Given the description of an element on the screen output the (x, y) to click on. 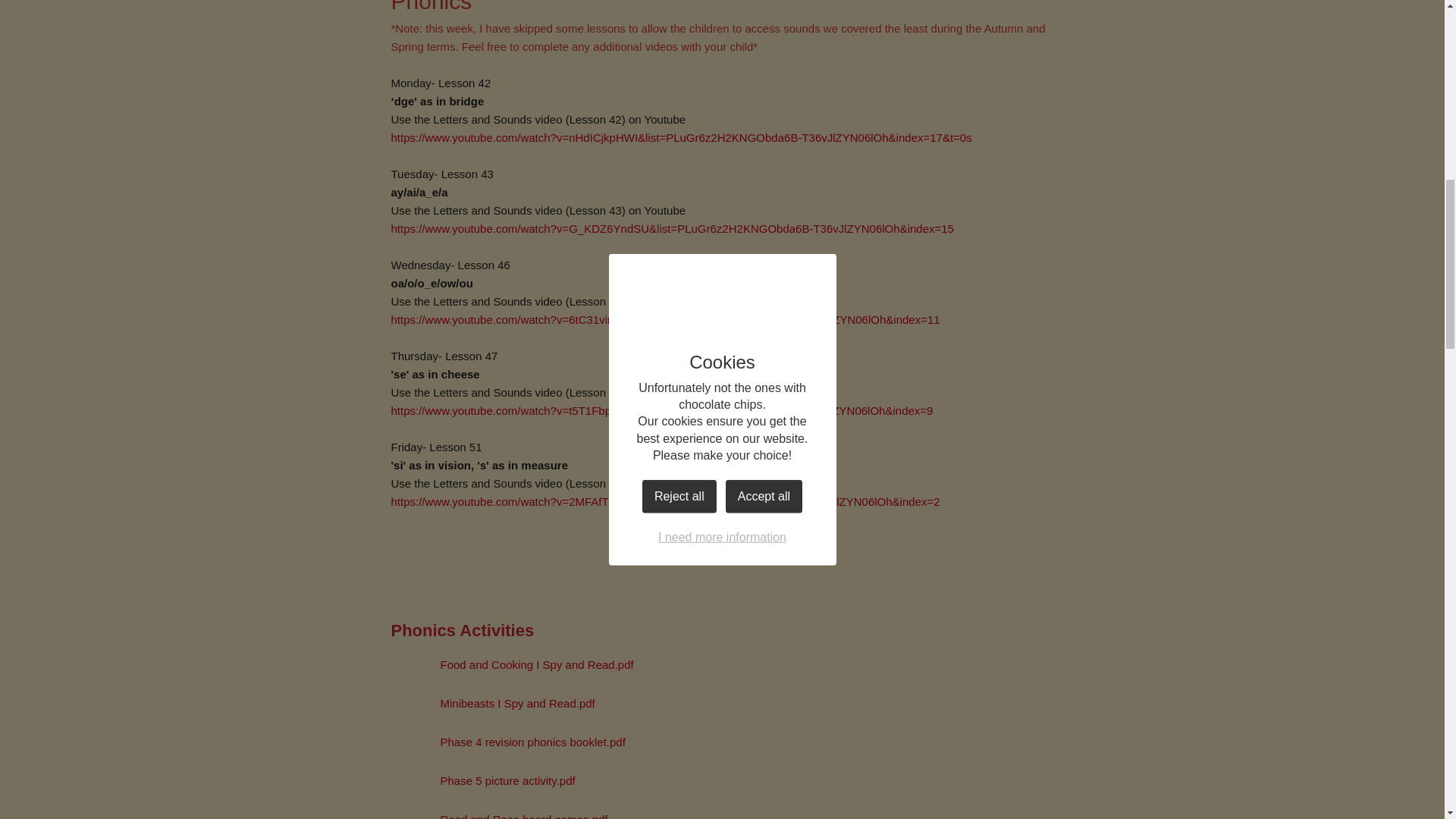
Minibeasts I Spy and Read.pdf (493, 703)
Phase 5 picture activity.pdf (483, 780)
Phase 4 revision phonics booklet.pdf (508, 742)
Read and Race board games.pdf (499, 810)
Food and Cooking I Spy and Read.pdf (512, 664)
